Given the description of an element on the screen output the (x, y) to click on. 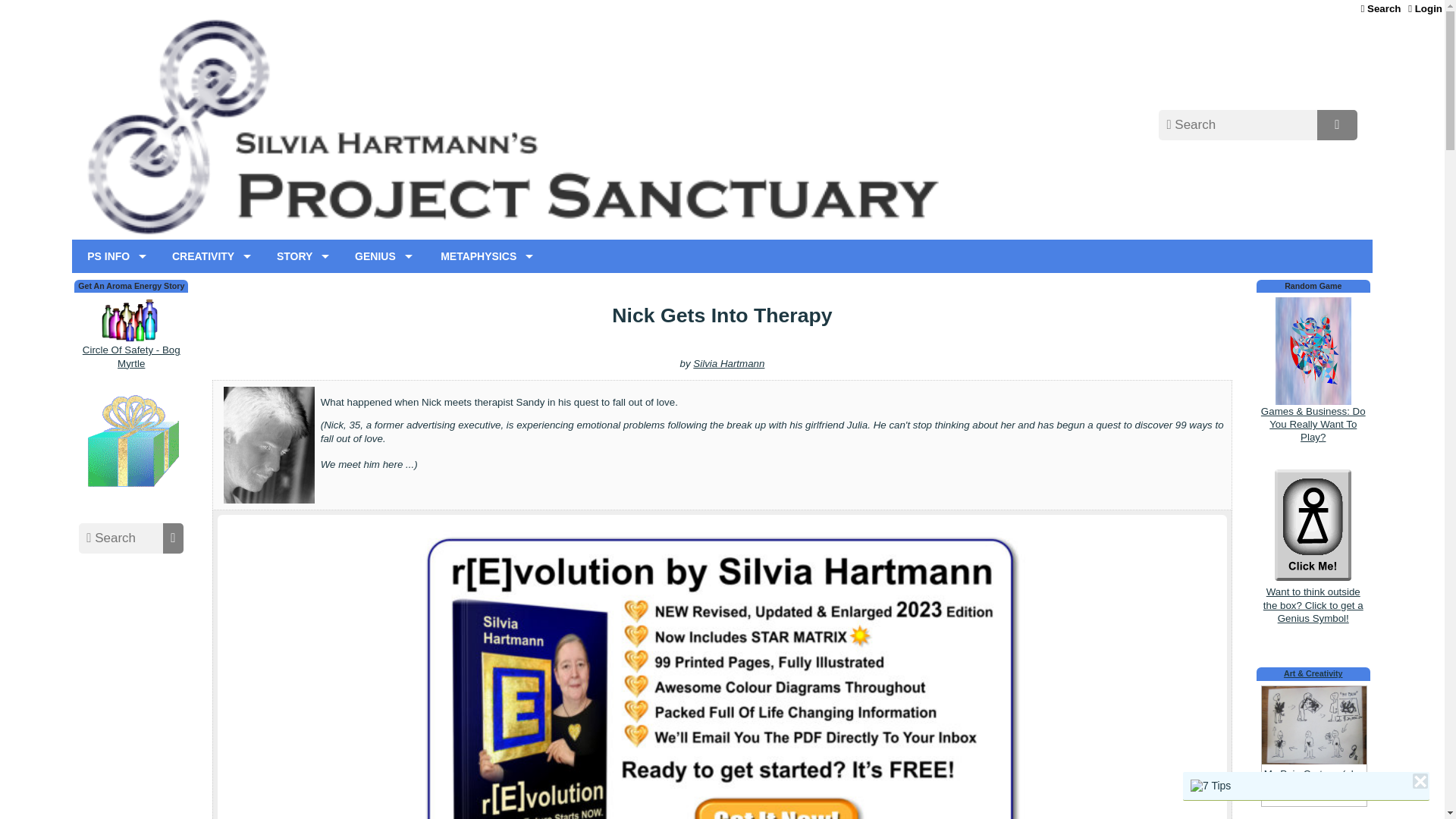
GENIUS (379, 255)
Search this website (1380, 8)
Click for the Project Sanctuary Genius Symbol of the Day (1312, 598)
The Gift - What is YOUR The Gift For Today? (130, 443)
Click to get a The Gift from SFX (130, 490)
CREATIVITY (208, 255)
STORY (299, 255)
PS INFO (112, 255)
